Given the description of an element on the screen output the (x, y) to click on. 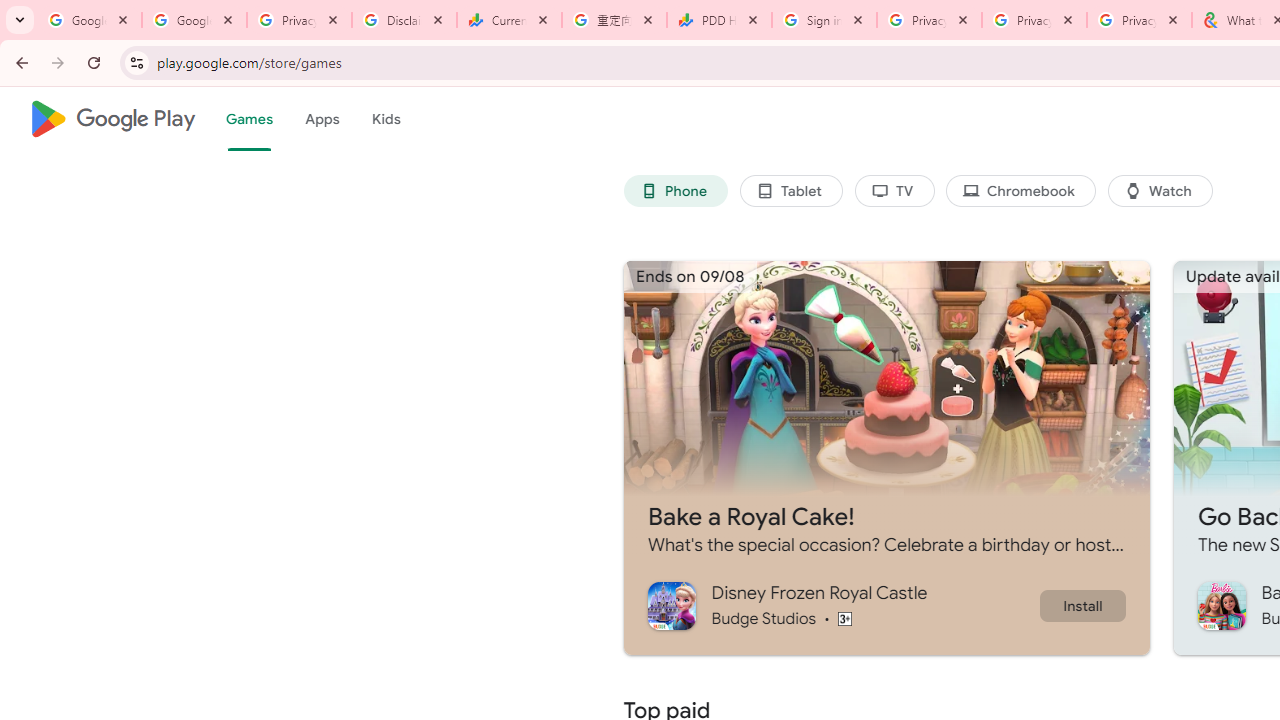
Kids (385, 119)
TV (893, 190)
Tablet (790, 190)
Privacy Checkup (1138, 20)
Install (1082, 605)
Google Play logo (111, 119)
